Given the description of an element on the screen output the (x, y) to click on. 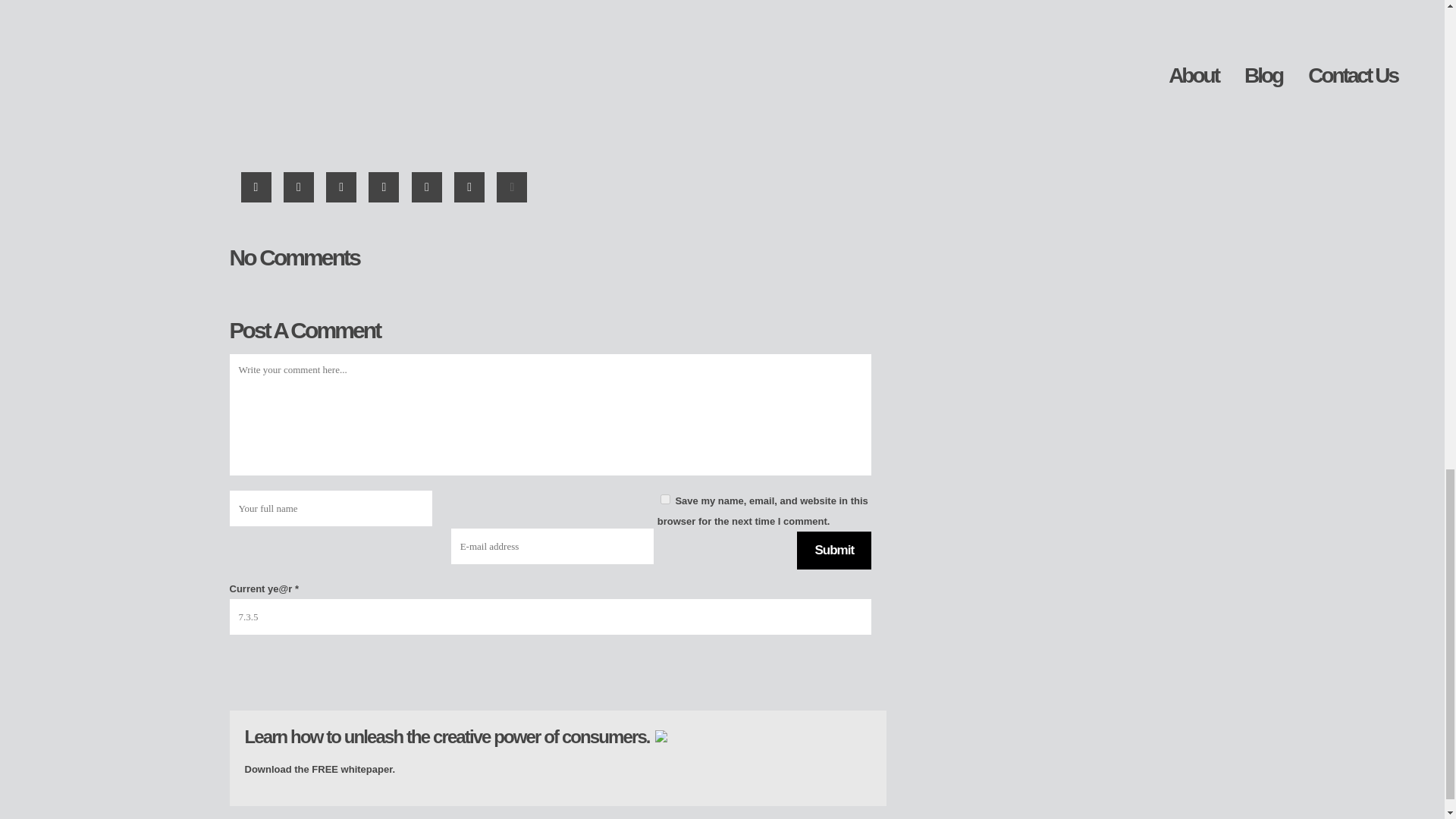
Submit (833, 550)
Submit (833, 550)
7.3.5 (549, 616)
yes (665, 499)
